Given the description of an element on the screen output the (x, y) to click on. 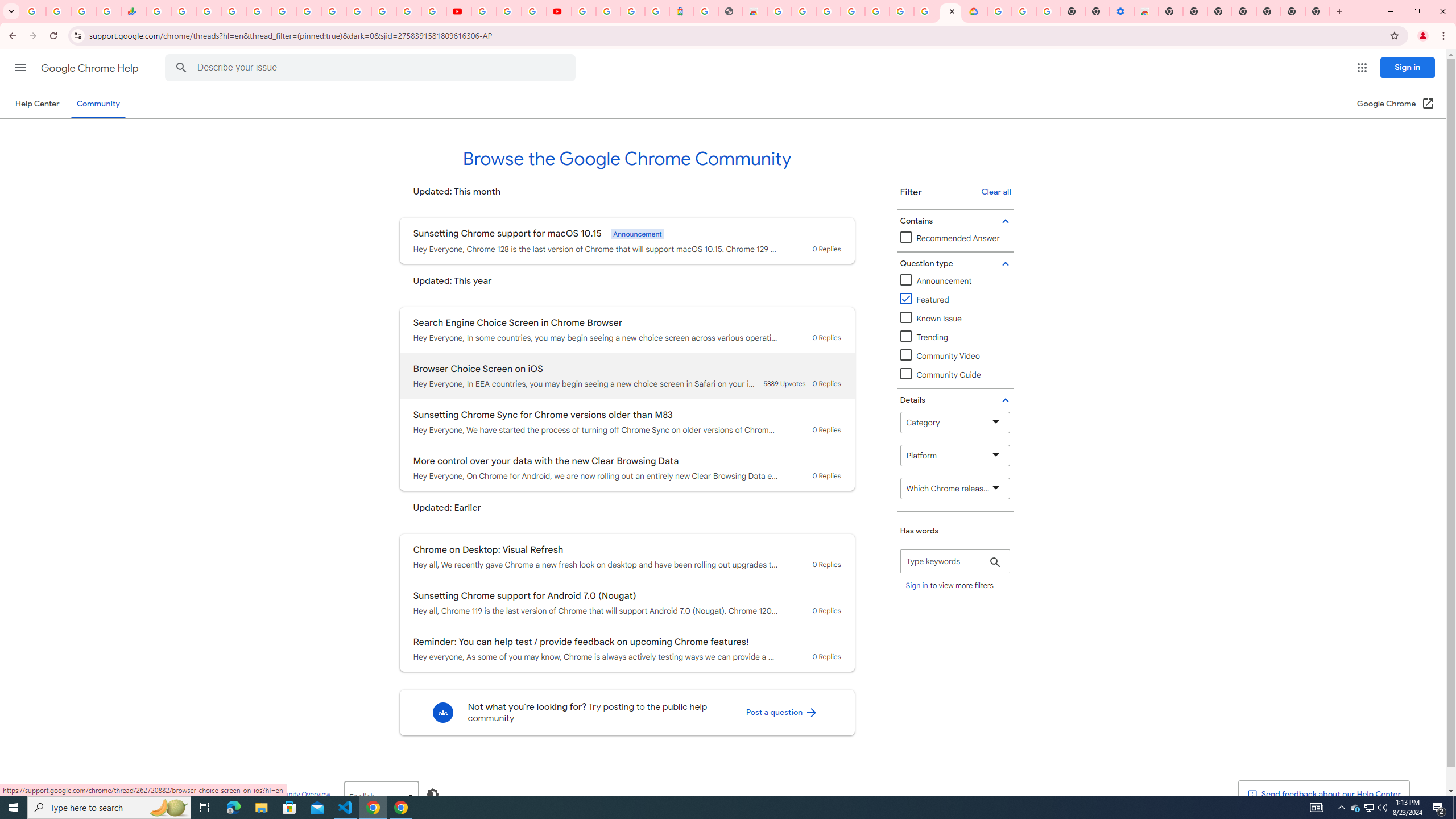
Google Chrome Help (90, 68)
Google Chrome (Open in a new window) (1395, 103)
Sign in - Google Accounts (583, 11)
Android TV Policies and Guidelines - Transparency Center (308, 11)
Sign in - Google Accounts (999, 11)
Describe your issue (371, 67)
Sign in - Google Accounts (608, 11)
Announcement (954, 281)
